Given the description of an element on the screen output the (x, y) to click on. 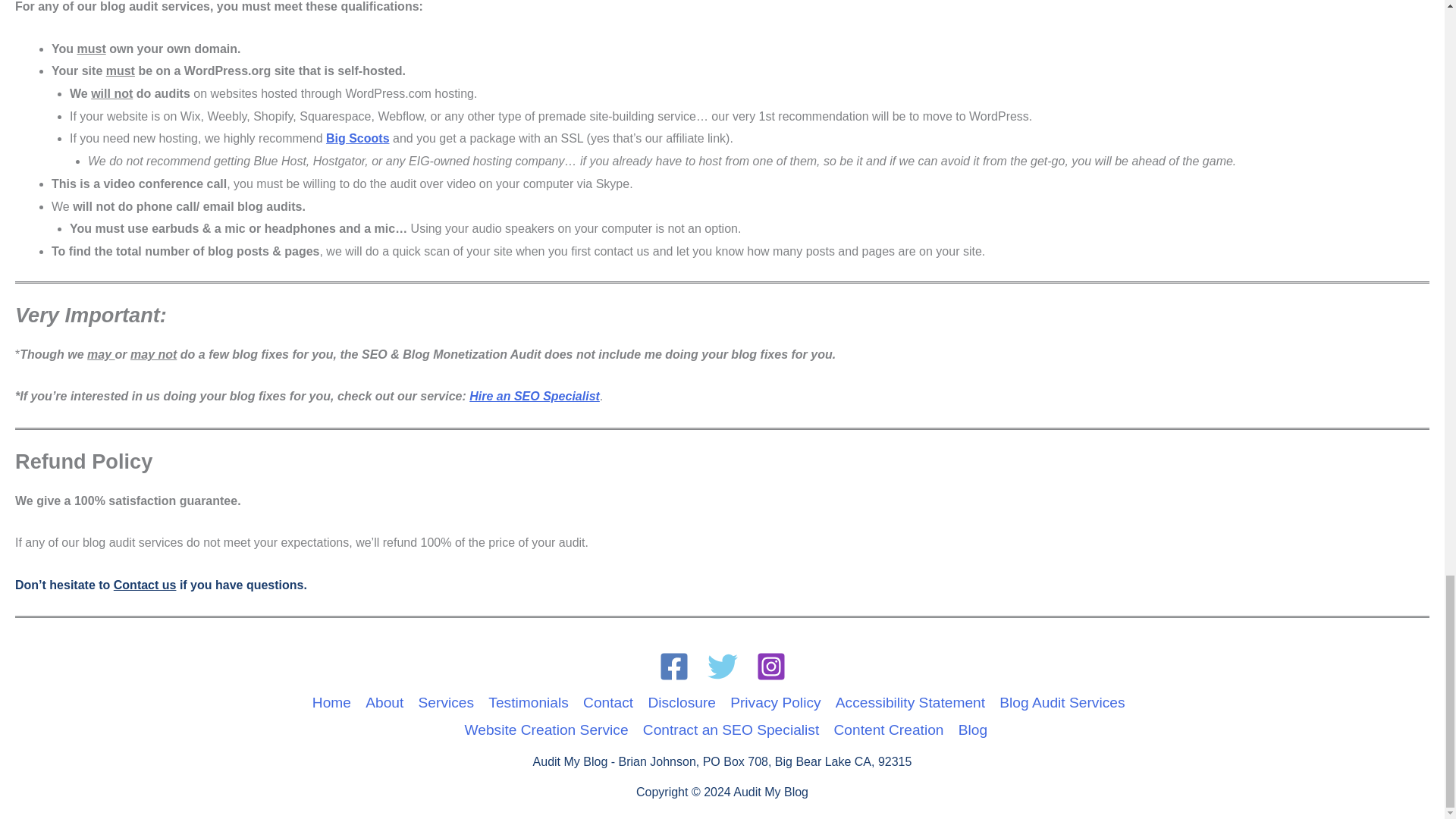
Contact (607, 702)
Big Scoots (358, 137)
Content Creation (888, 729)
Hire an SEO Specialist (533, 395)
Testimonials (528, 702)
Contact us (144, 584)
Disclosure (681, 702)
Accessibility Statement (909, 702)
Website Creation Service (545, 729)
Blog Audit Services (1062, 702)
Home (335, 702)
Contract an SEO Specialist (730, 729)
Privacy Policy (775, 702)
About (384, 702)
Services (445, 702)
